Given the description of an element on the screen output the (x, y) to click on. 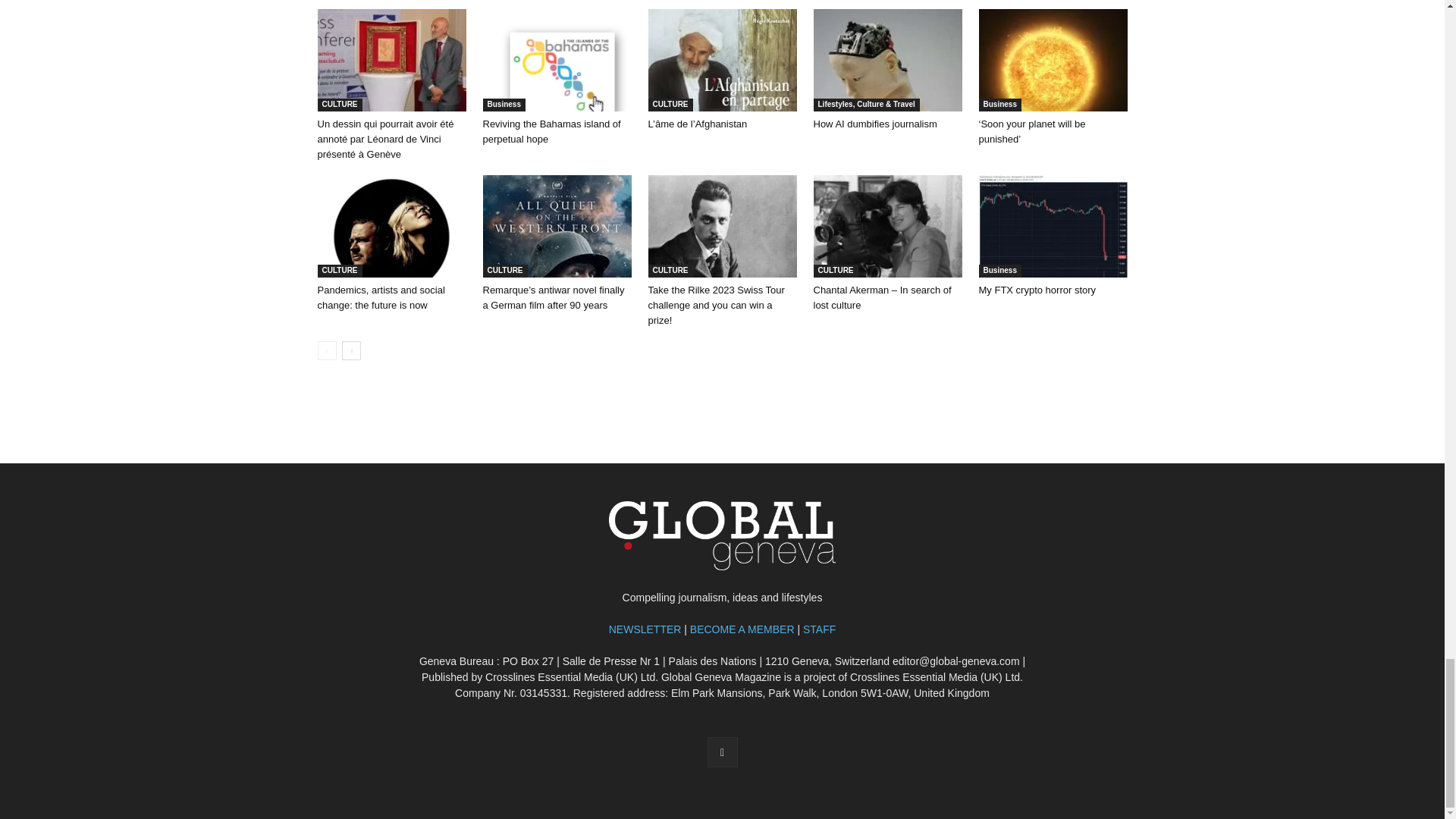
Reviving the Bahamas island of perpetual hope (555, 60)
How AI dumbifies journalism (886, 60)
How AI dumbifies journalism (874, 123)
Reviving the Bahamas island of perpetual hope (550, 130)
